Given the description of an element on the screen output the (x, y) to click on. 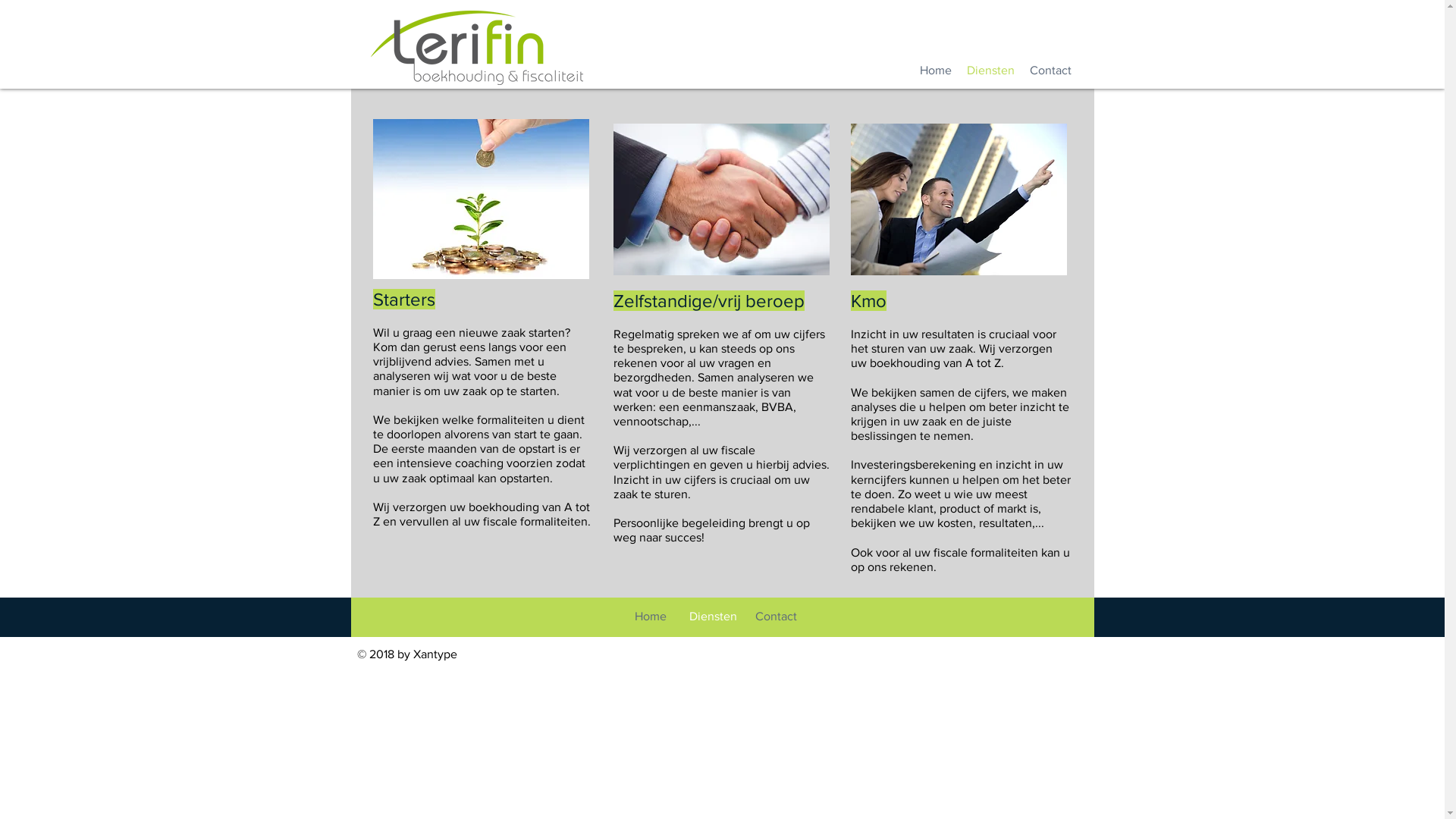
Diensten Element type: text (712, 616)
Contact Element type: text (775, 616)
Home Element type: text (934, 69)
Fotolia_14260023.jpg Element type: hover (481, 199)
iStock_000019559714Small.jpg Element type: hover (720, 199)
Home Element type: text (649, 616)
plan vision Element type: hover (958, 199)
Contact Element type: text (1050, 69)
Diensten Element type: text (989, 69)
